Given the description of an element on the screen output the (x, y) to click on. 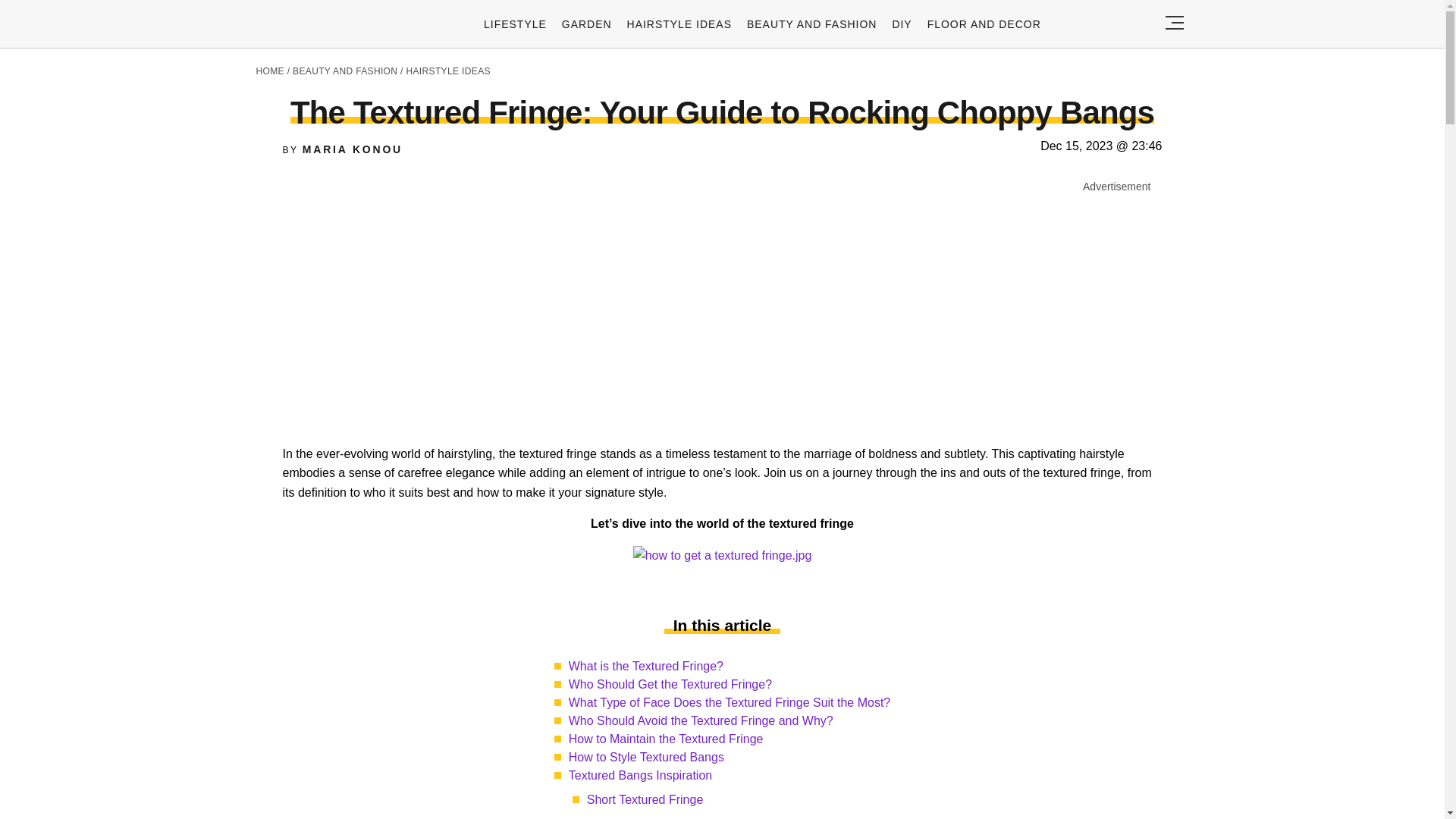
Archziner.com (328, 25)
HOME (269, 71)
DIY (901, 24)
HAIRSTYLE IDEAS (679, 24)
BEAUTY AND FASHION (811, 24)
Archziner.com (328, 25)
FLOOR AND DECOR (984, 24)
how to get a textured fringe.jpg (722, 555)
GARDEN (586, 24)
LIFESTYLE (515, 24)
